Given the description of an element on the screen output the (x, y) to click on. 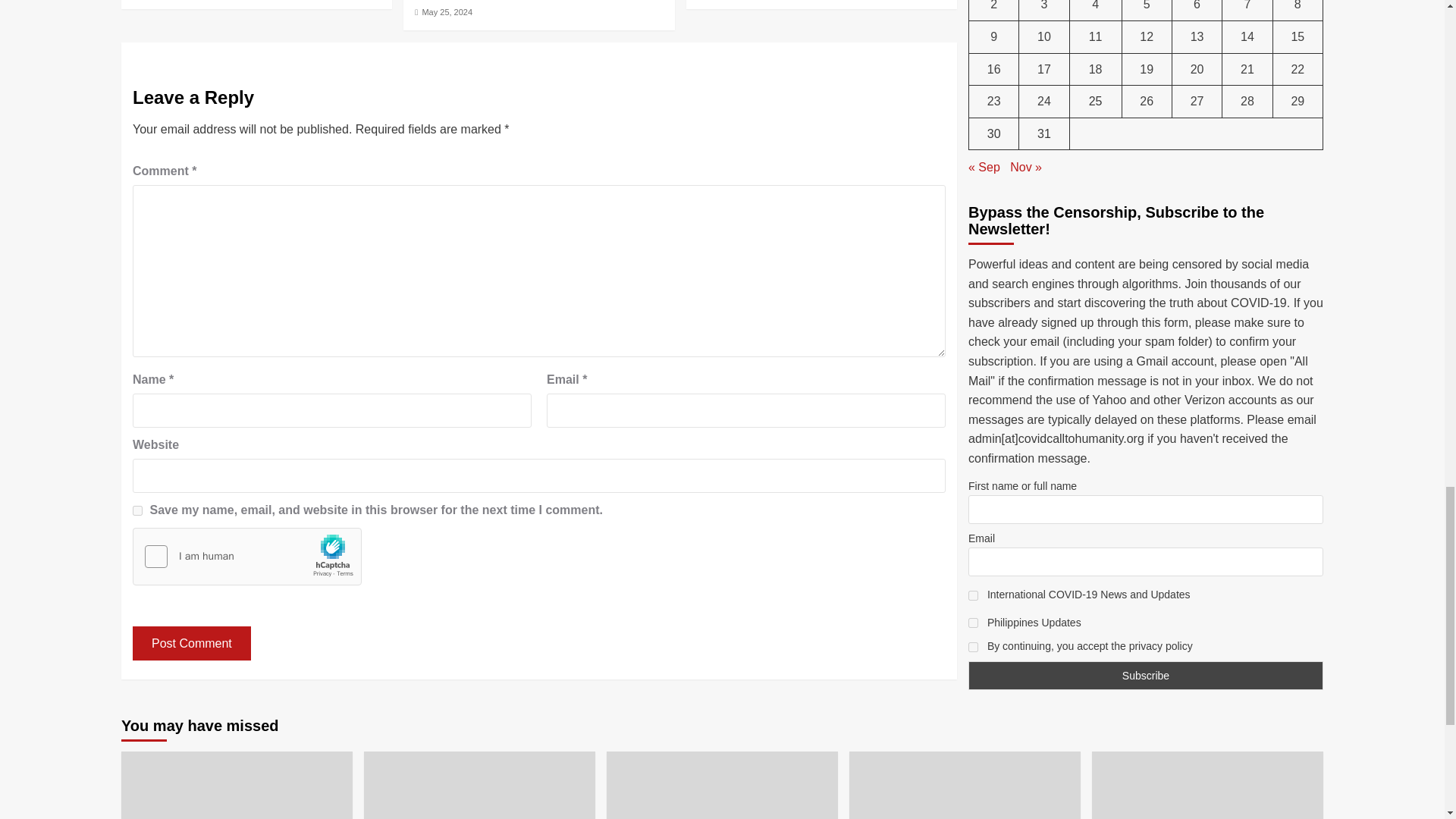
Post Comment (191, 643)
yes (137, 510)
Widget containing checkbox for hCaptcha security challenge (247, 557)
